Given the description of an element on the screen output the (x, y) to click on. 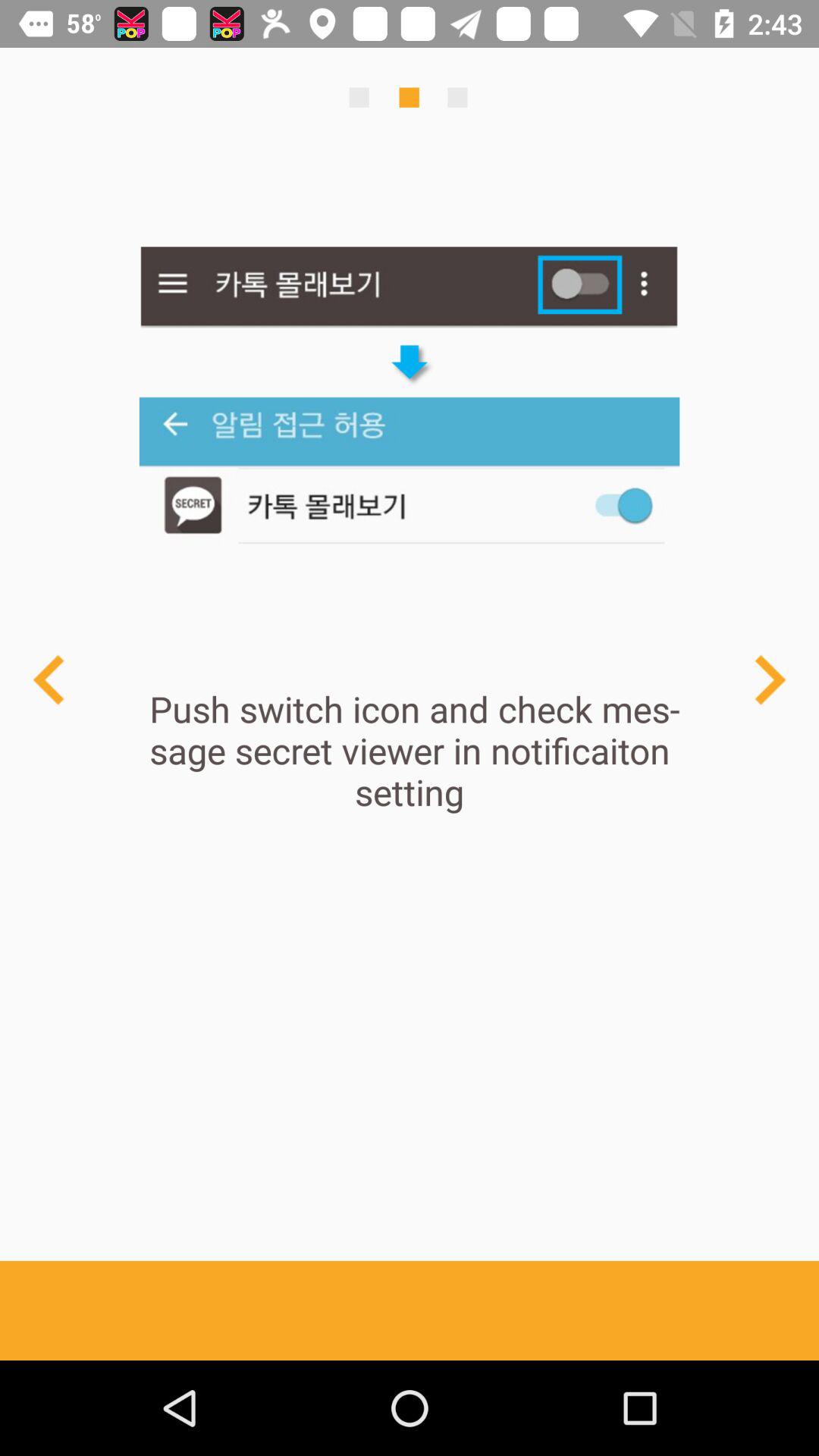
go to previous (769, 679)
